Given the description of an element on the screen output the (x, y) to click on. 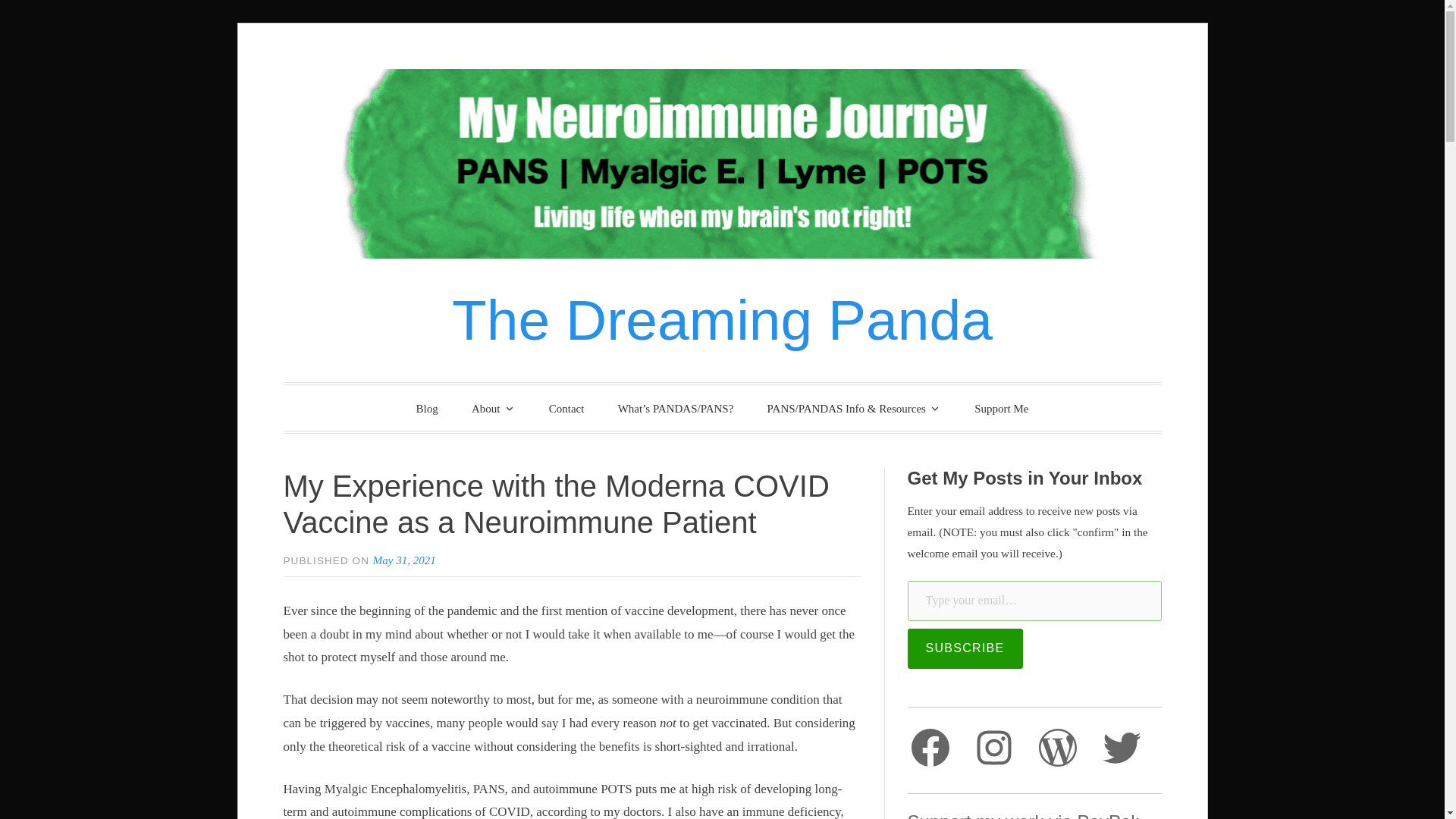
May 31, 2021 (403, 560)
Support Me (1001, 408)
Please fill in this field. (1034, 600)
About (494, 407)
Contact (566, 408)
The Dreaming Panda (721, 320)
Blog (426, 408)
